Given the description of an element on the screen output the (x, y) to click on. 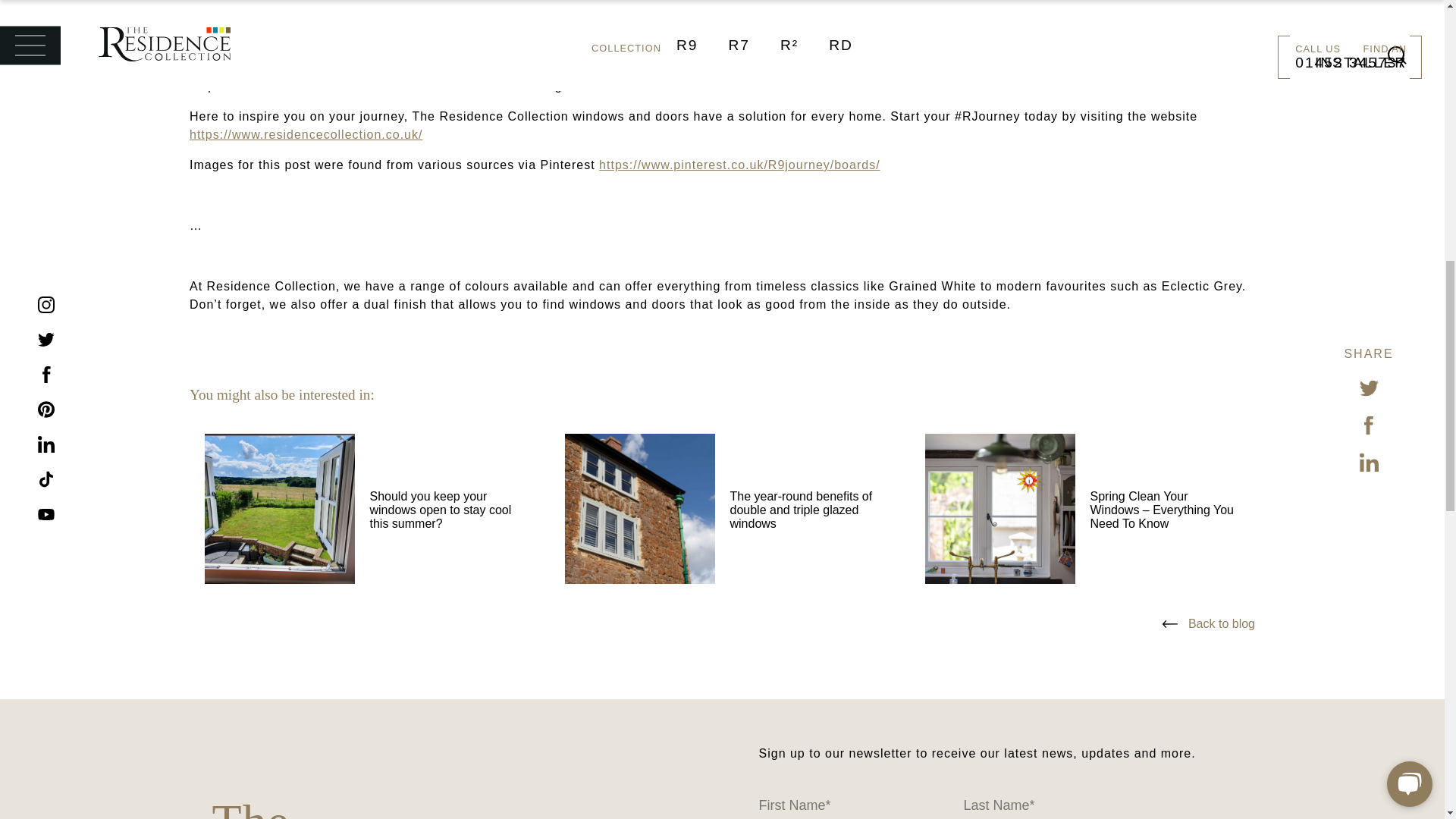
Share on LinkedIn (1367, 15)
